Given the description of an element on the screen output the (x, y) to click on. 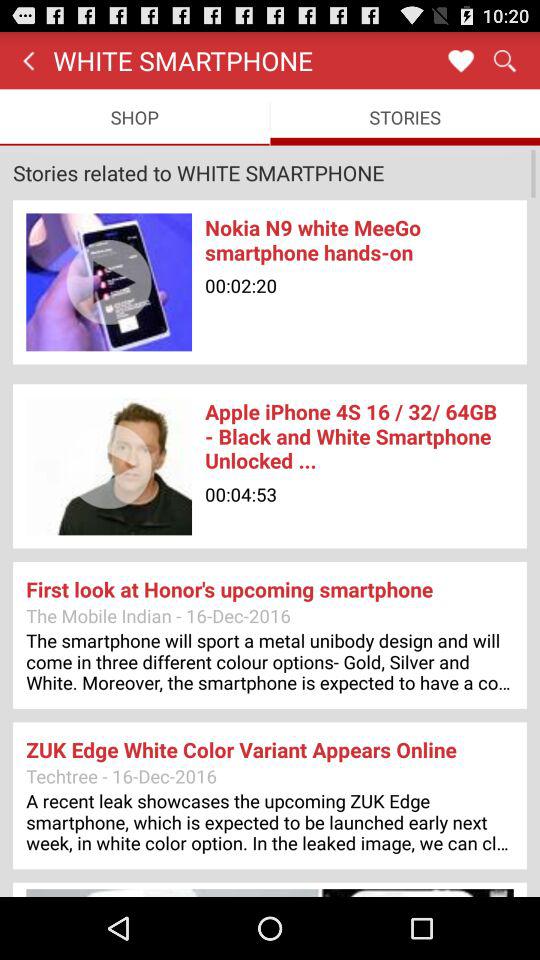
press the shop item (134, 116)
